Given the description of an element on the screen output the (x, y) to click on. 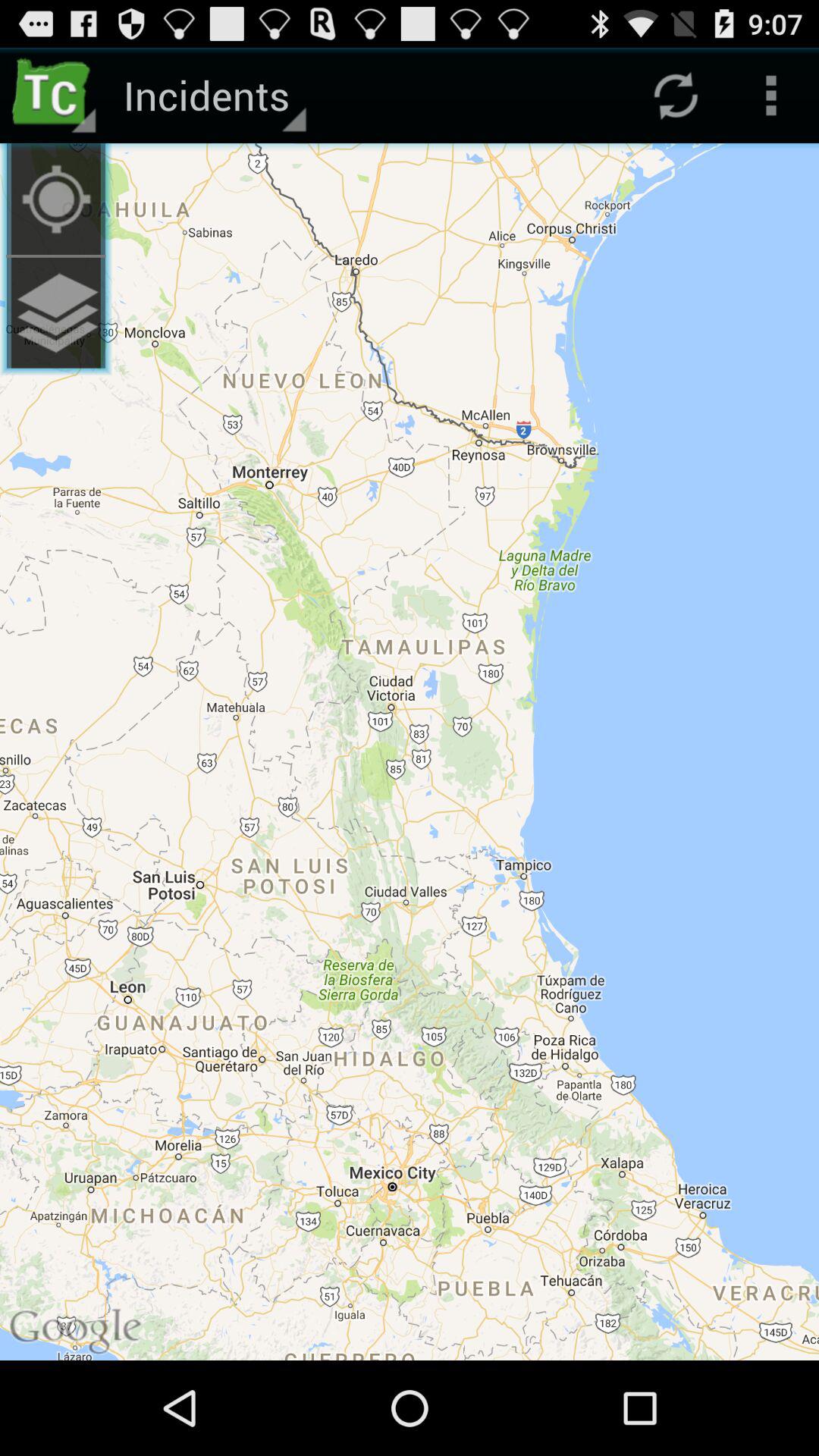
launch icon to the left of the incidents item (55, 95)
